Given the description of an element on the screen output the (x, y) to click on. 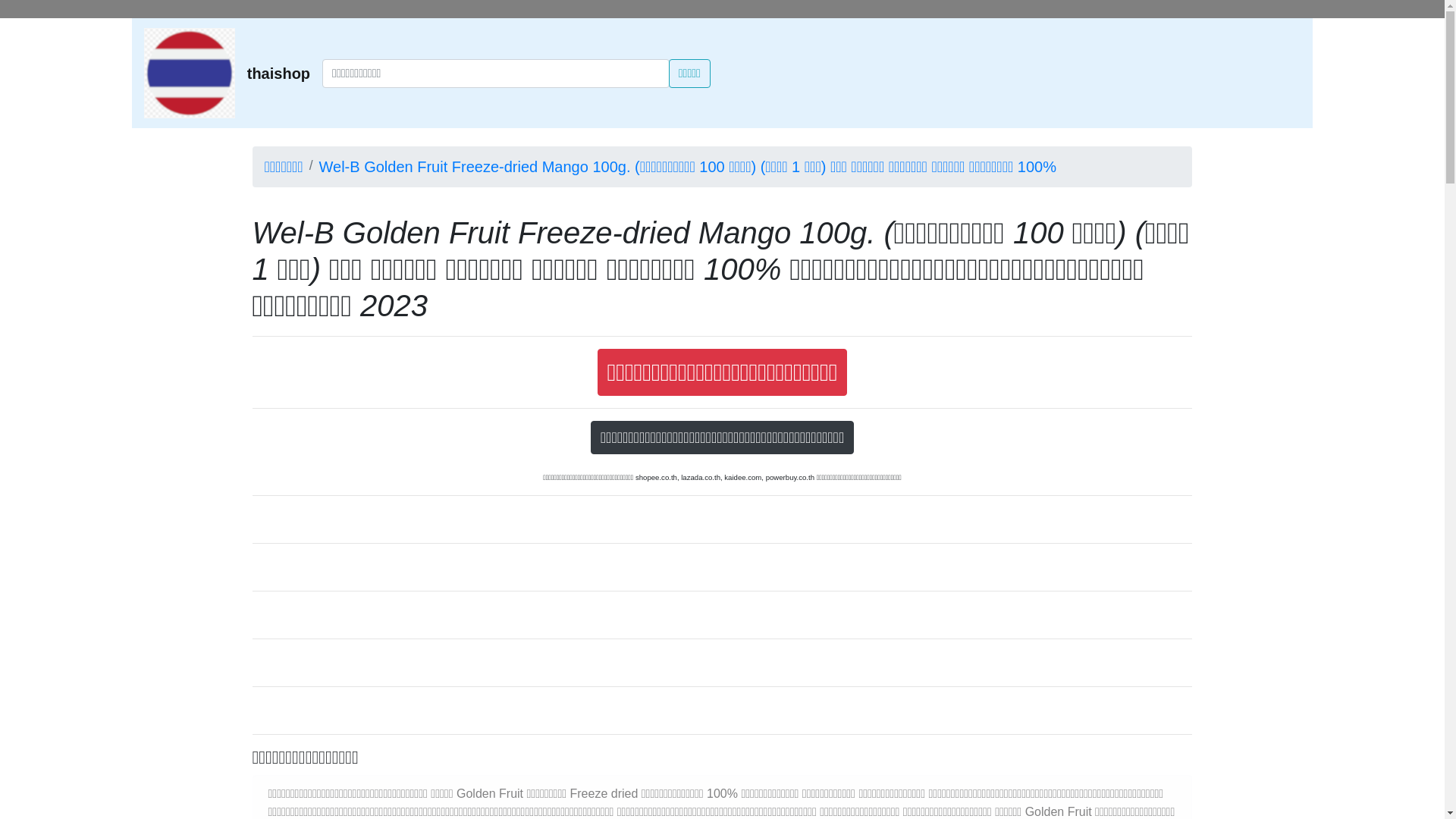
thaishop Element type: text (278, 72)
